Given the description of an element on the screen output the (x, y) to click on. 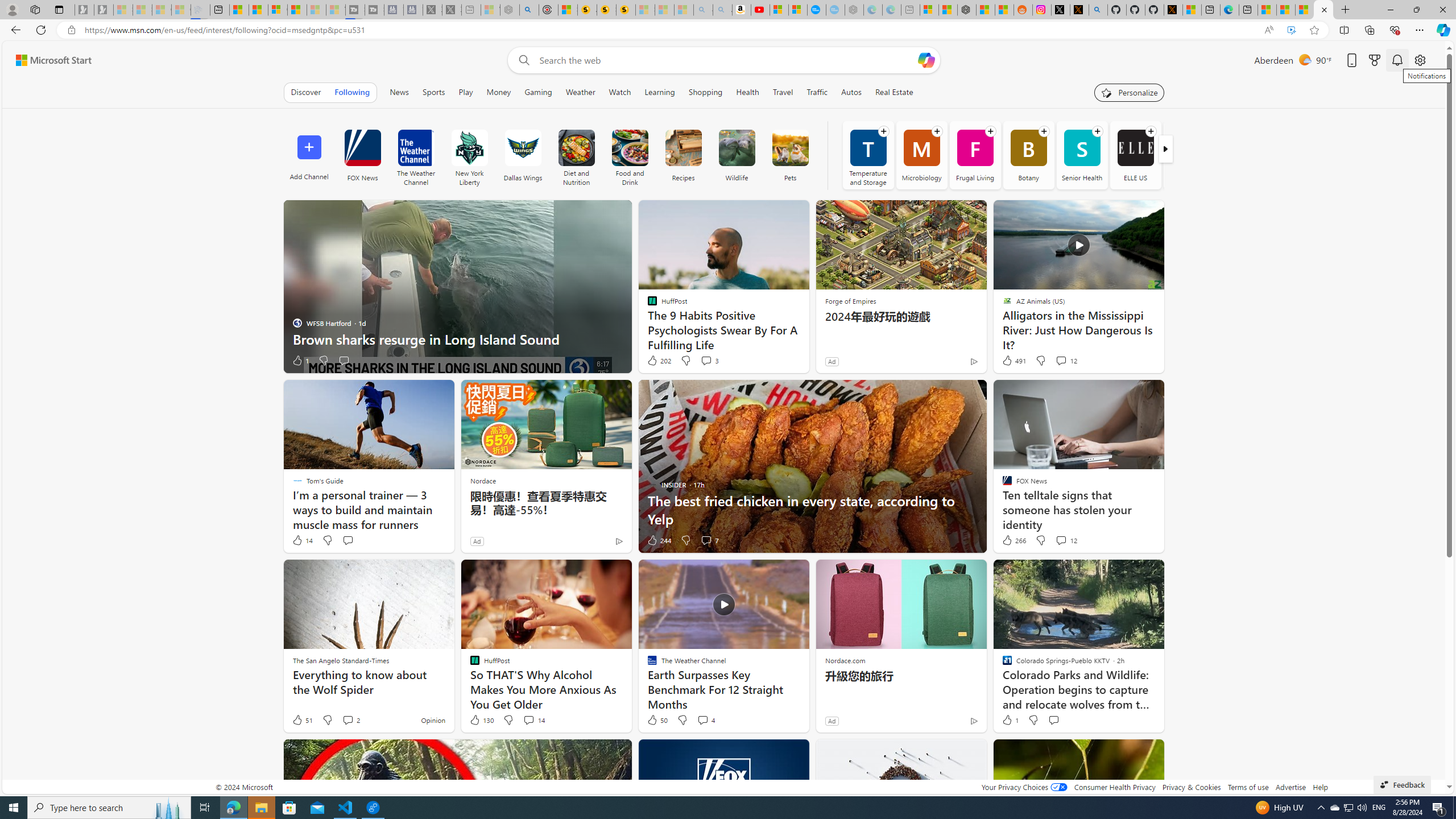
View comments 12 Comment (1061, 540)
Amazon Echo Dot PNG - Search Images - Sleeping (721, 9)
Diet and Nutrition (576, 147)
Food and Drink (629, 147)
View comments 14 Comment (528, 719)
View comments 2 Comment (347, 719)
